Given the description of an element on the screen output the (x, y) to click on. 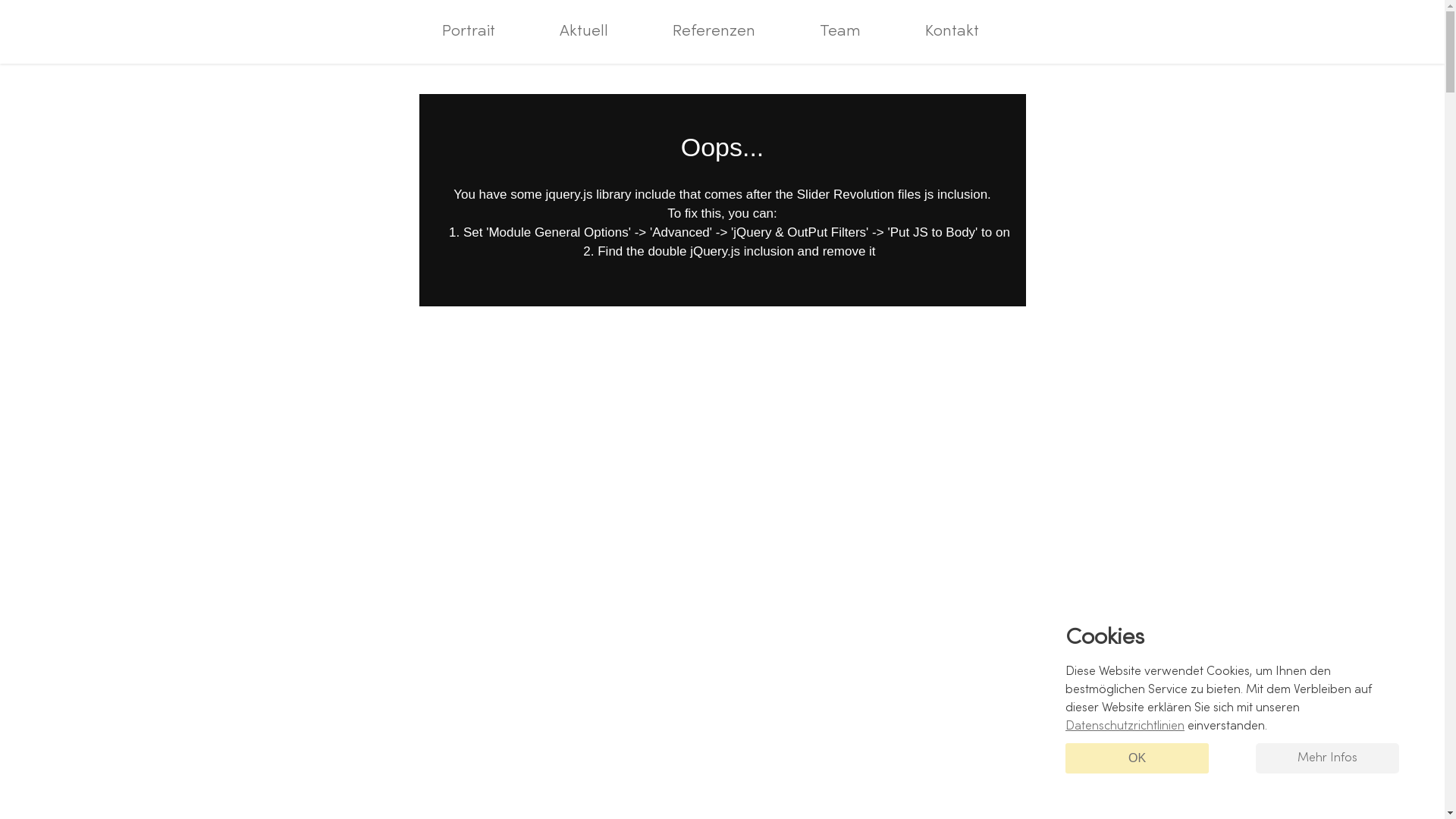
Team Element type: text (840, 31)
Kontakt Element type: text (951, 31)
Referenzen Element type: text (713, 31)
Portrait Element type: text (468, 31)
Datenschutzrichtlinien Element type: text (1124, 726)
Mehr Infos Element type: text (1327, 758)
Aktuell Element type: text (583, 31)
OK Element type: text (1136, 758)
